Given the description of an element on the screen output the (x, y) to click on. 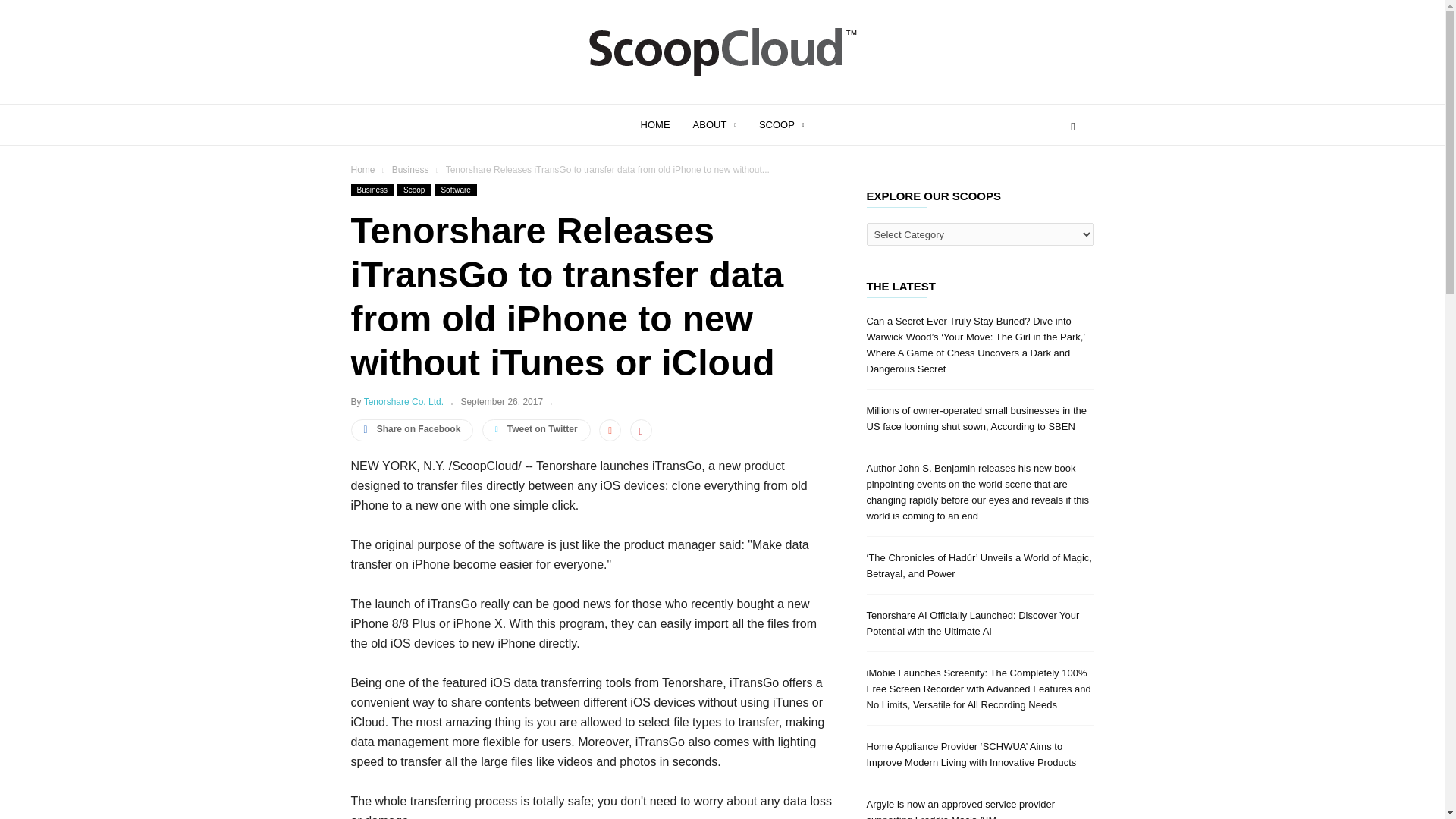
Tenorshare Co. Ltd. (404, 401)
Software (454, 190)
Home (363, 169)
ScoopCloud (722, 79)
Business (410, 169)
HOME (666, 124)
Share on Facebook (411, 430)
SCOOP (781, 124)
View all posts in Business (410, 169)
Tweet on Twitter (536, 430)
